Given the description of an element on the screen output the (x, y) to click on. 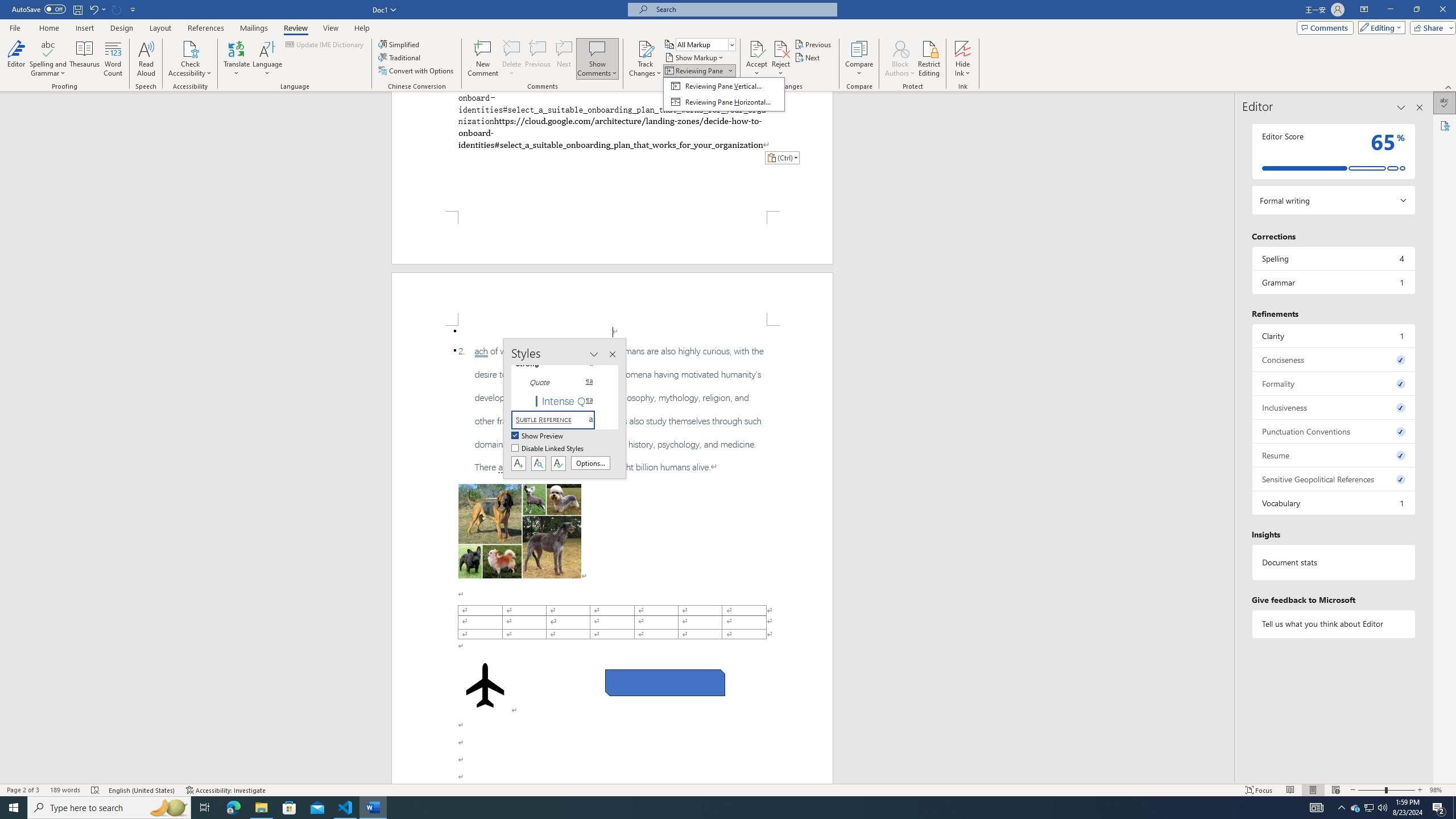
Resume, 0 issues. Press space or enter to review items. (1333, 454)
Block Authors (900, 58)
Spelling and Grammar (48, 48)
Simplified (400, 44)
Hide Ink (962, 48)
Show Comments (597, 48)
